Given the description of an element on the screen output the (x, y) to click on. 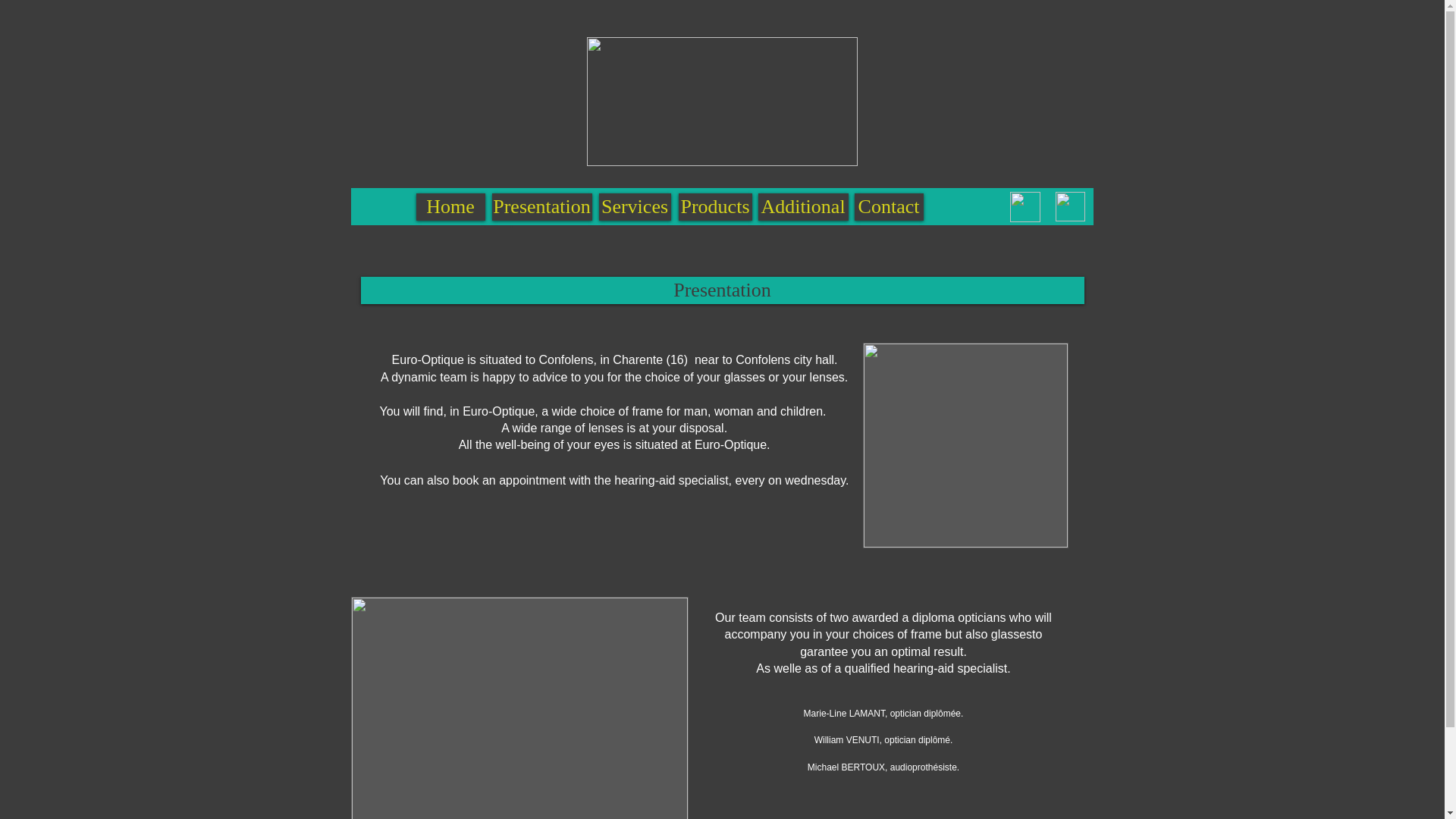
Presentation (722, 289)
Contact (888, 206)
Prestations (838, 217)
Nos favoris (718, 217)
Contact (1029, 217)
Accueil (403, 218)
Services (634, 206)
Products (714, 206)
Home (449, 206)
Presentation (541, 206)
